Given the description of an element on the screen output the (x, y) to click on. 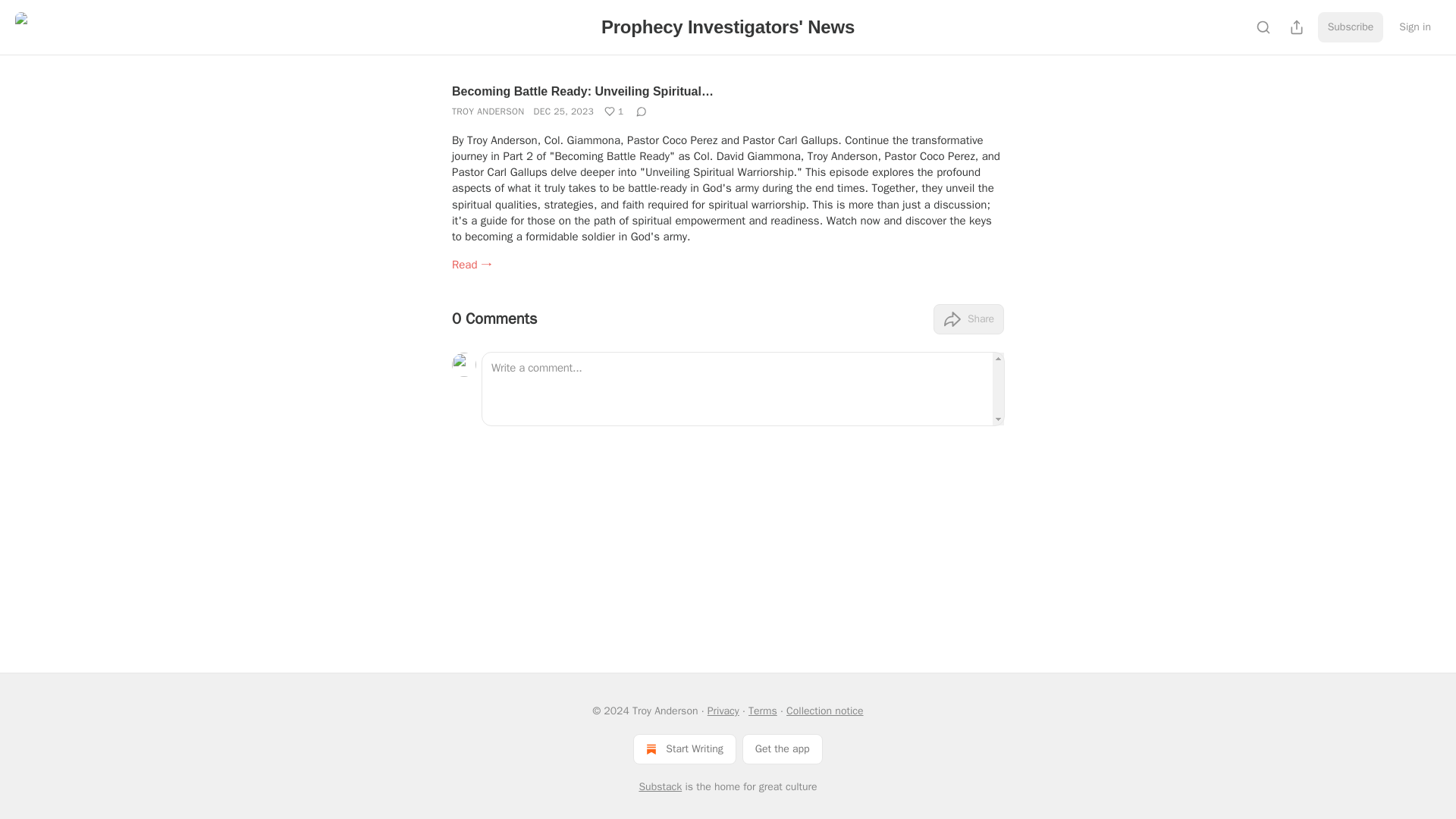
Share (968, 318)
Collection notice (824, 710)
Subscribe (1350, 27)
Prophecy Investigators' News (727, 26)
Get the app (782, 748)
Sign in (1415, 27)
Substack (660, 786)
Start Writing (684, 748)
1 (613, 111)
Terms (762, 710)
